Given the description of an element on the screen output the (x, y) to click on. 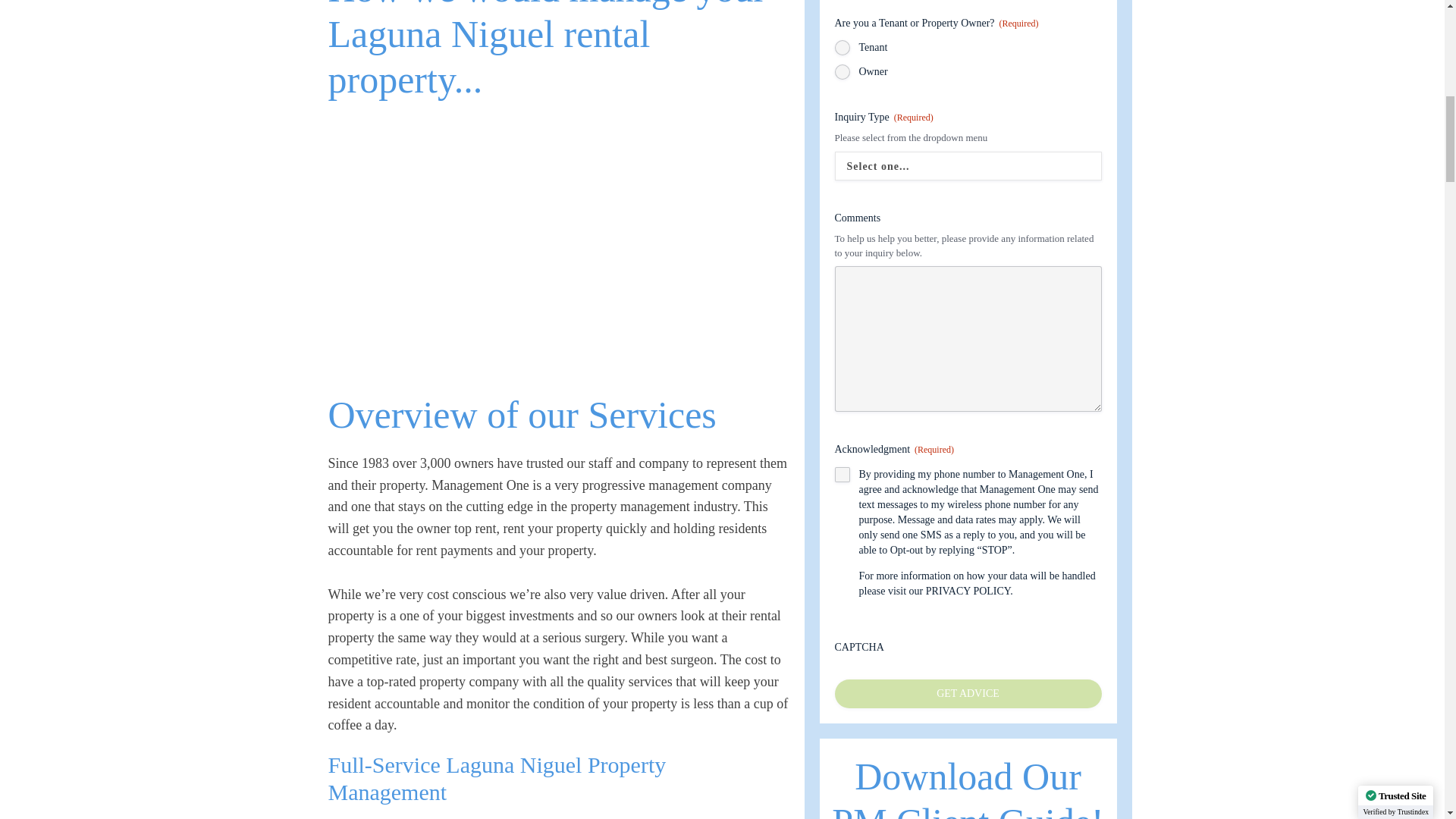
Tenant (841, 47)
Get Advice (967, 693)
Owner (841, 71)
1 (841, 474)
